Given the description of an element on the screen output the (x, y) to click on. 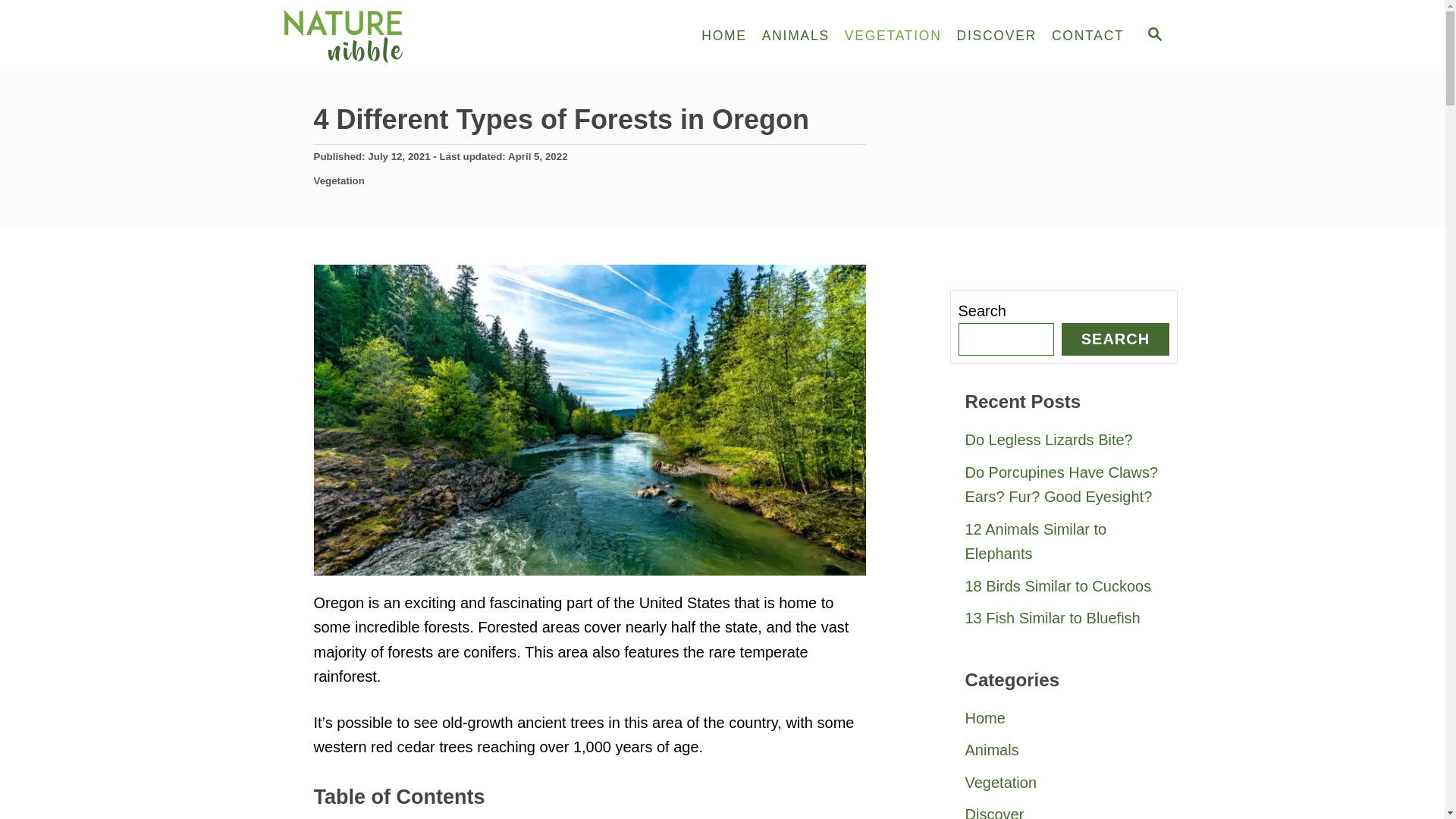
Vegetation (339, 180)
SEARCH (1153, 35)
Animals (1062, 749)
DISCOVER (996, 36)
SEARCH (1115, 338)
Discover (1062, 808)
ANIMALS (795, 36)
CONTACT (1087, 36)
Do Porcupines Have Claws? Ears? Fur? Good Eyesight? (1062, 484)
18 Birds Similar to Cuckoos (1062, 586)
Home (1062, 717)
VEGETATION (893, 36)
HOME (724, 36)
13 Fish Similar to Bluefish (1062, 617)
Do Legless Lizards Bite? (1062, 440)
